Given the description of an element on the screen output the (x, y) to click on. 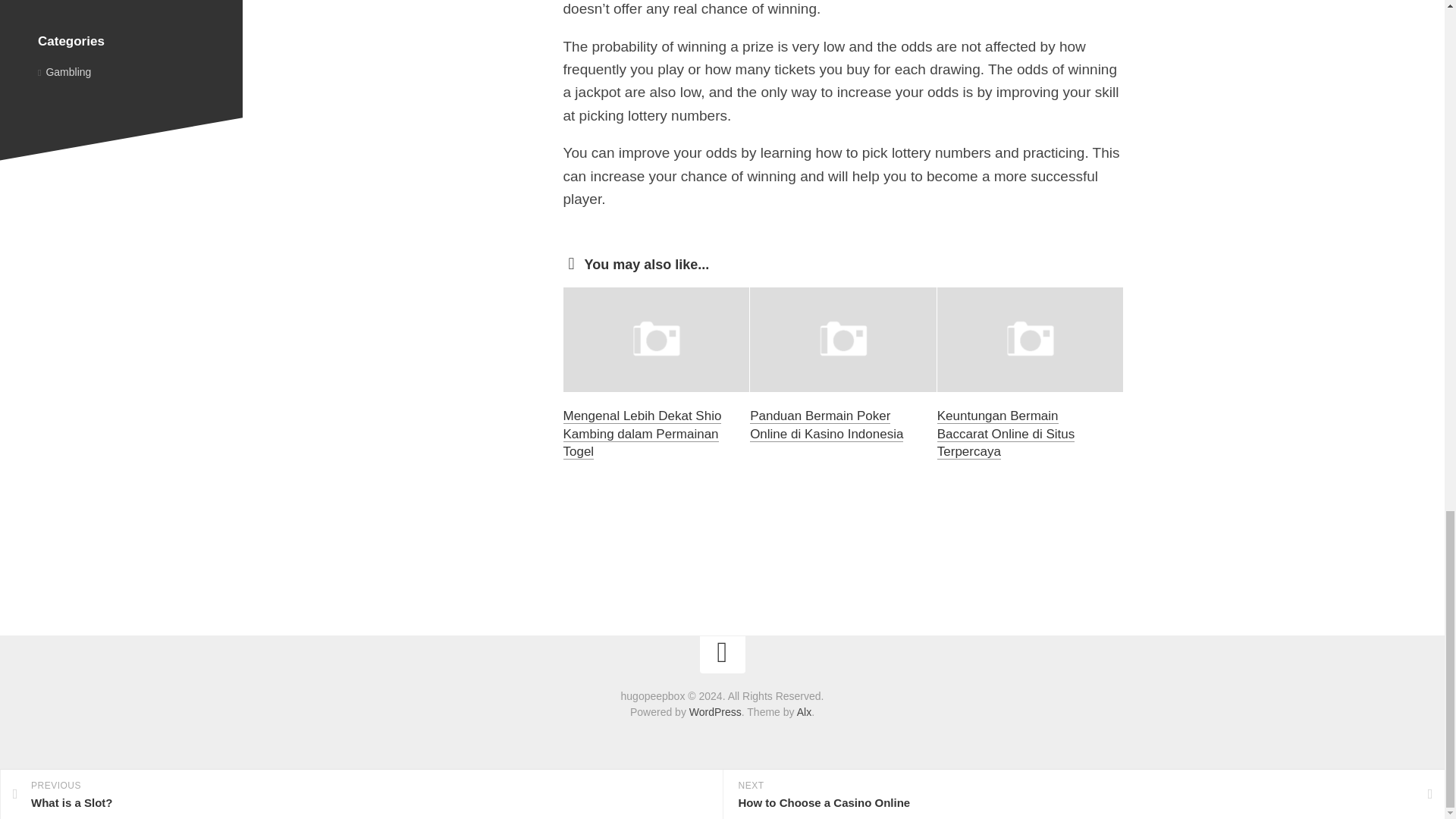
Mengenal Lebih Dekat Shio Kambing dalam Permainan Togel (641, 433)
Panduan Bermain Poker Online di Kasino Indonesia (825, 424)
Keuntungan Bermain Baccarat Online di Situs Terpercaya (1005, 433)
